Given the description of an element on the screen output the (x, y) to click on. 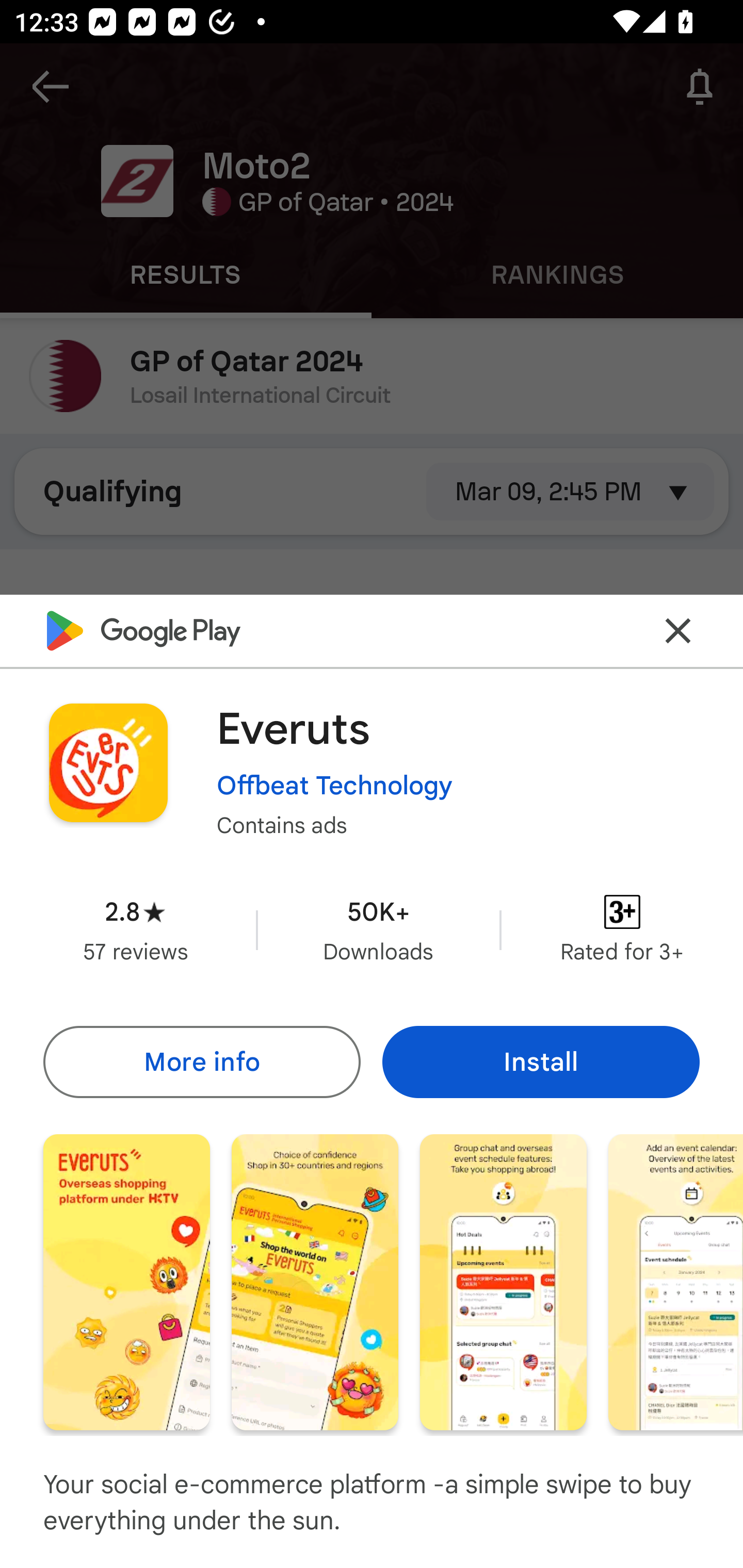
Close (677, 630)
Image of app or game icon for Everuts (108, 762)
Offbeat Technology (334, 784)
More info (201, 1061)
Install (540, 1061)
Screenshot "1" of "7" (126, 1281)
Screenshot "2" of "7" (314, 1281)
Screenshot "3" of "7" (502, 1281)
Screenshot "4" of "7" (675, 1281)
